Given the description of an element on the screen output the (x, y) to click on. 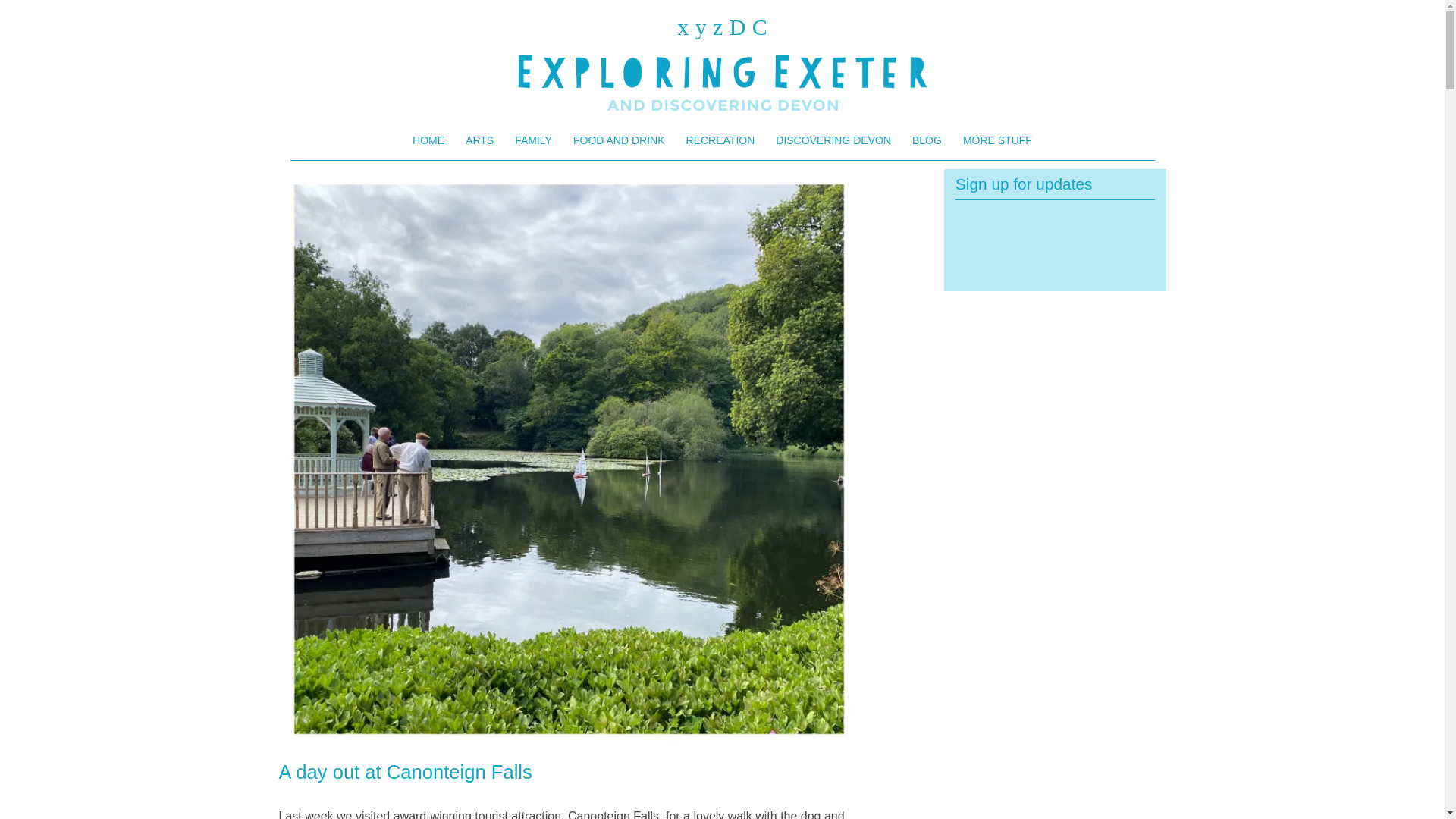
ARTS (478, 139)
HOME (427, 139)
RECREATION (720, 139)
DISCOVERING DEVON (833, 139)
FAMILY (532, 139)
FOOD AND DRINK (618, 139)
BLOG (926, 139)
MORE STUFF (997, 139)
